Given the description of an element on the screen output the (x, y) to click on. 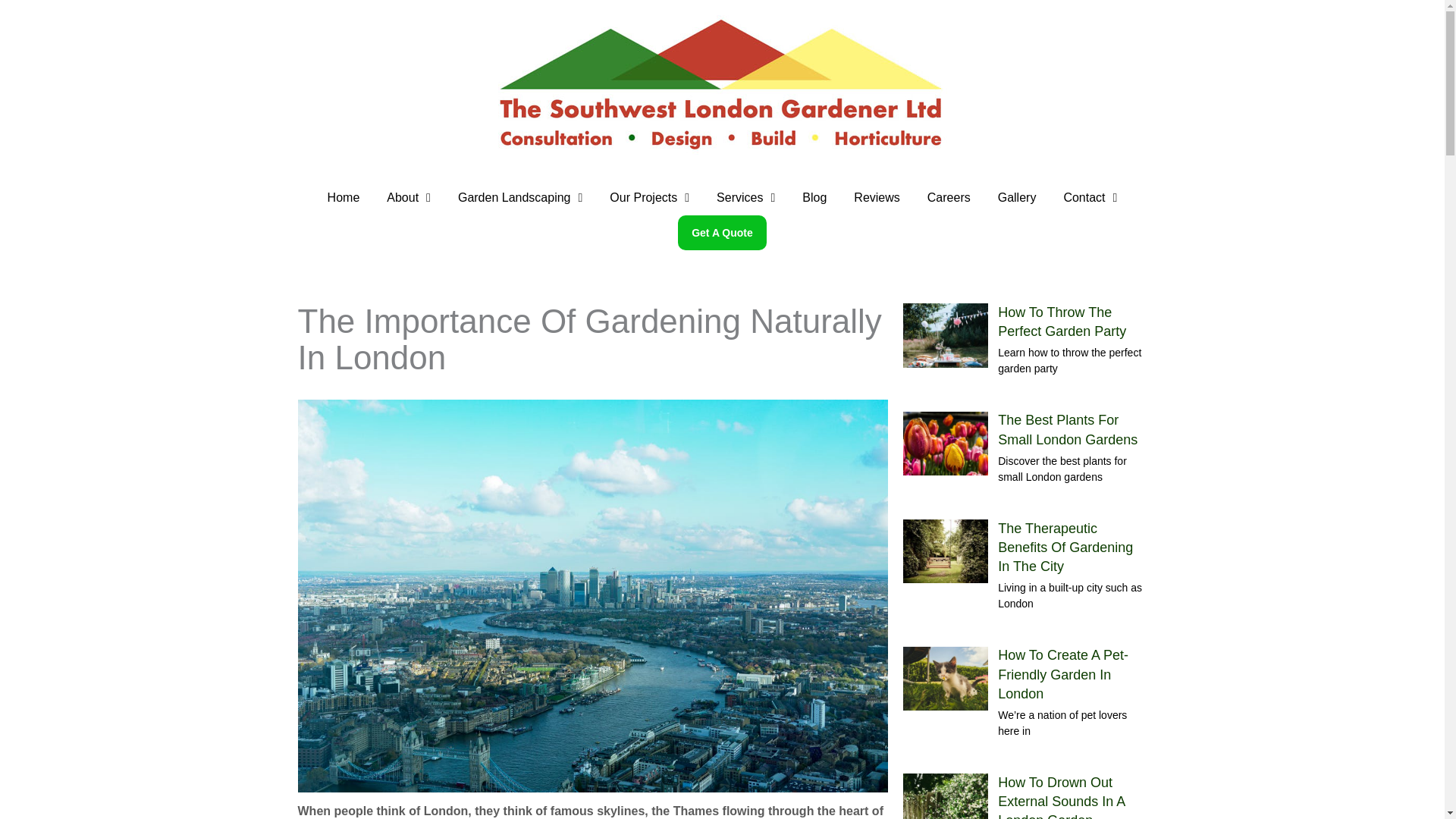
Contact (1090, 197)
Reviews (876, 197)
Our Projects (649, 197)
Garden Landscaping (519, 197)
About (408, 197)
Home (344, 197)
Get A Quote (722, 232)
Services (746, 197)
Careers (949, 197)
Gallery (1016, 197)
Blog (814, 197)
